Given the description of an element on the screen output the (x, y) to click on. 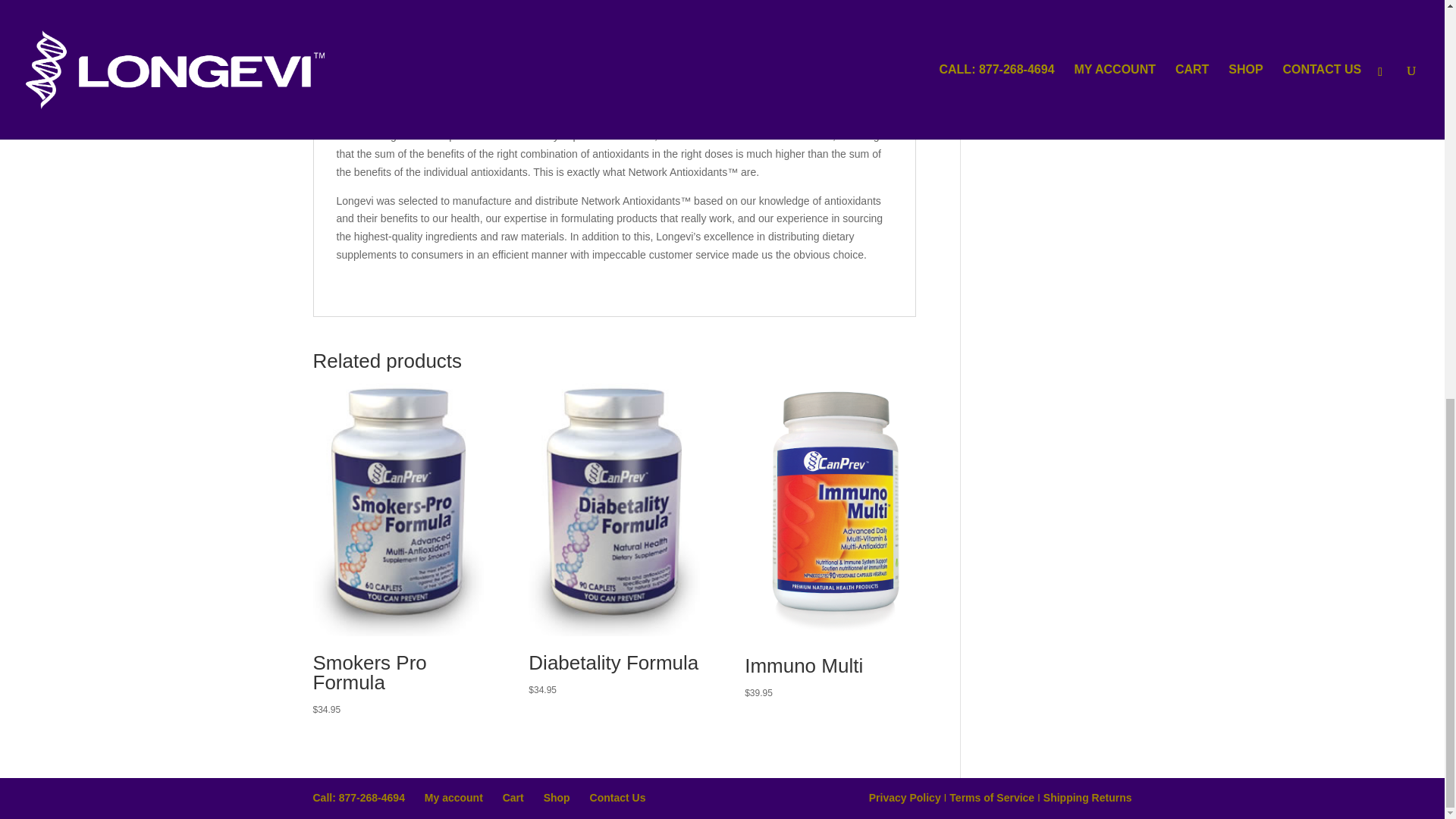
My account (454, 797)
Description (358, 2)
Shop (556, 797)
Cart (513, 797)
Call: 877-268-4694 (358, 797)
Dr. Lester Packer (509, 63)
